Given the description of an element on the screen output the (x, y) to click on. 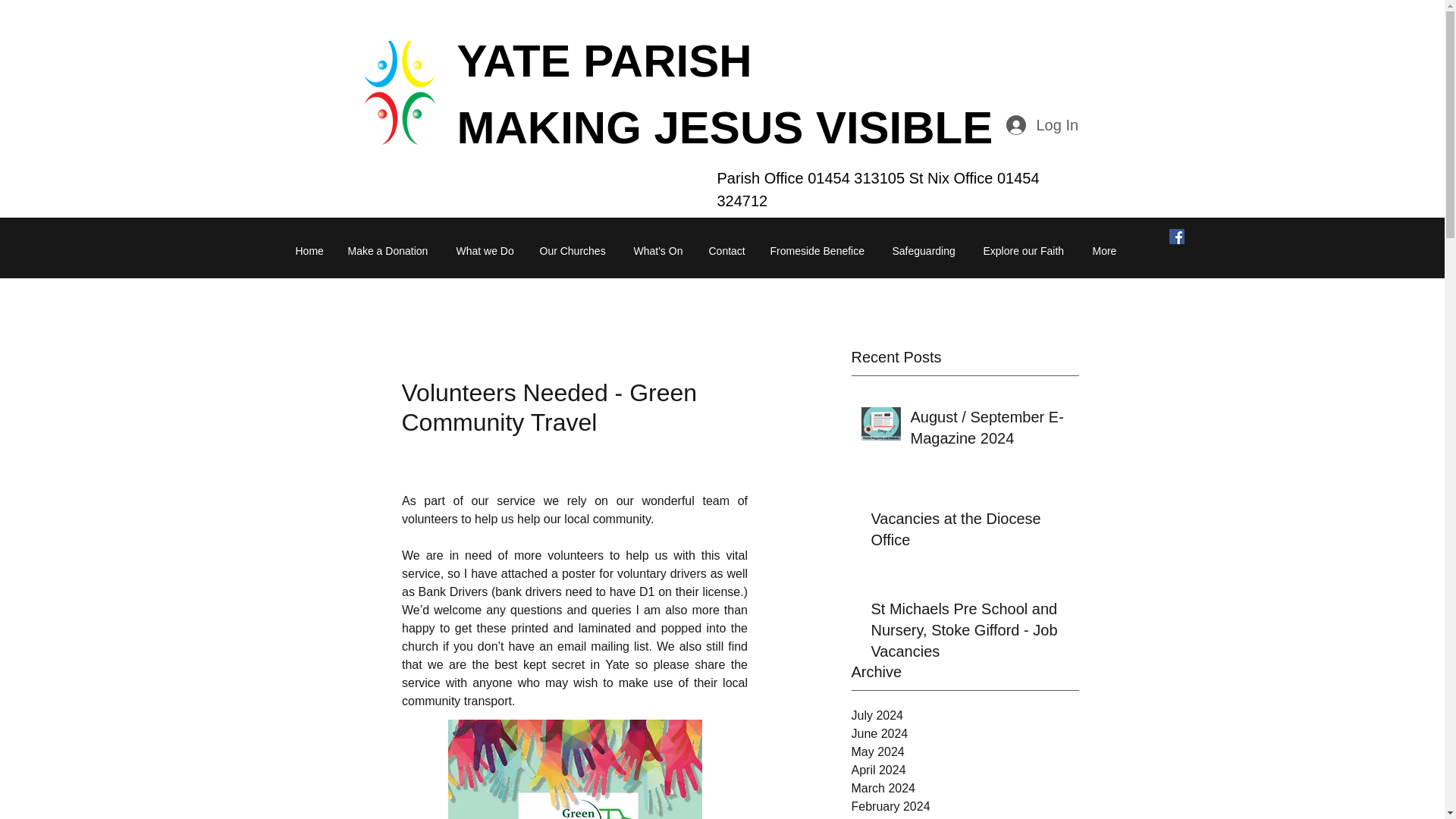
Fromeside Benefice (819, 250)
Home (309, 250)
Contact (727, 250)
Make a Donation (390, 250)
July 2024 (964, 715)
Our Churches (574, 250)
June 2024 (964, 733)
Explore our Faith (1026, 250)
What's On (659, 250)
Log In (1040, 124)
Safeguarding (926, 250)
Vacancies at the Diocese Office (969, 531)
